Given the description of an element on the screen output the (x, y) to click on. 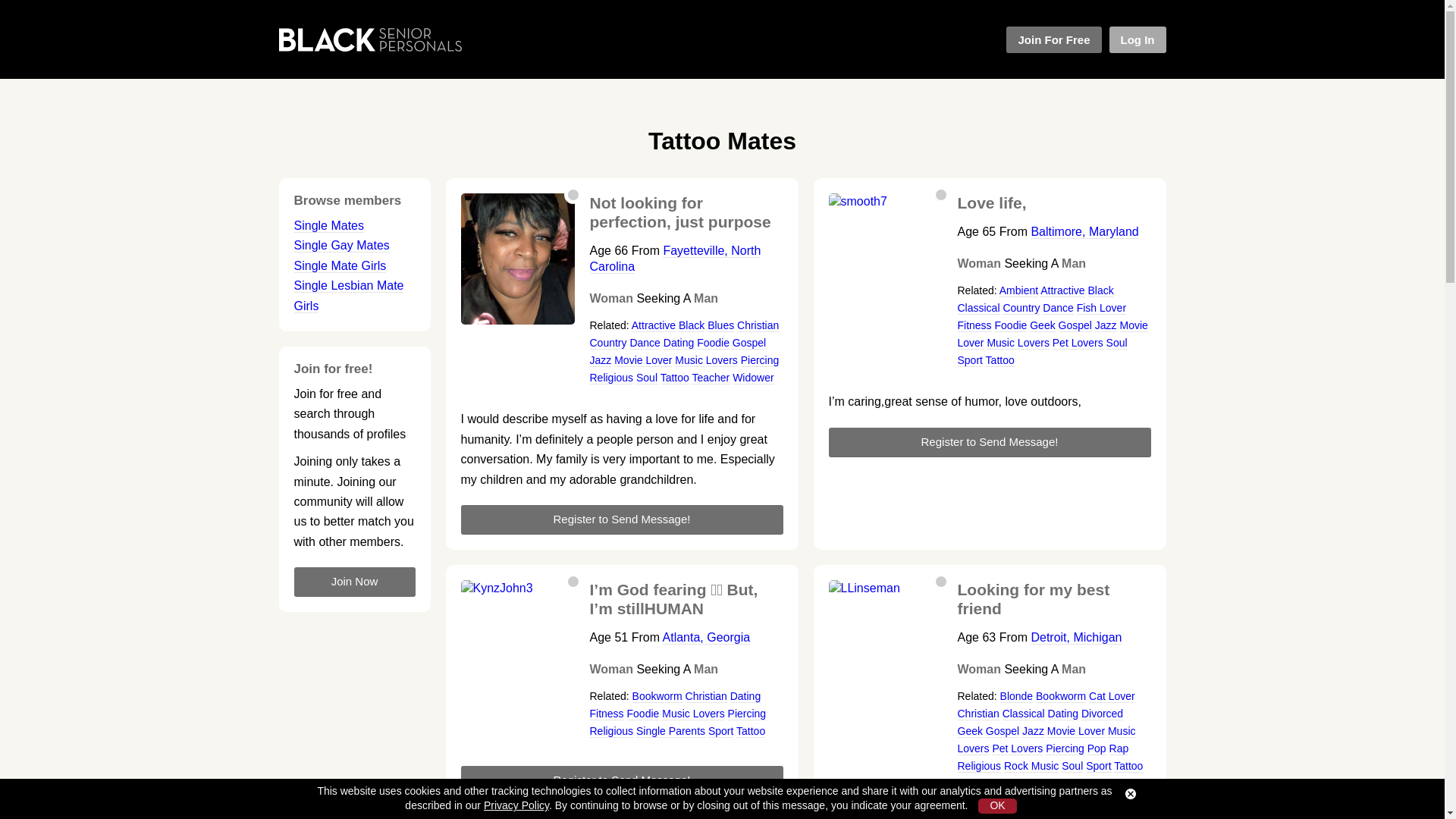
Soul (647, 377)
Single Lesbian Mate Girls (349, 295)
Attractive (653, 325)
Close (1130, 793)
Dating (678, 342)
OK (997, 806)
Christian (757, 325)
Log In (1137, 39)
Religious (611, 377)
Black (691, 325)
